Given the description of an element on the screen output the (x, y) to click on. 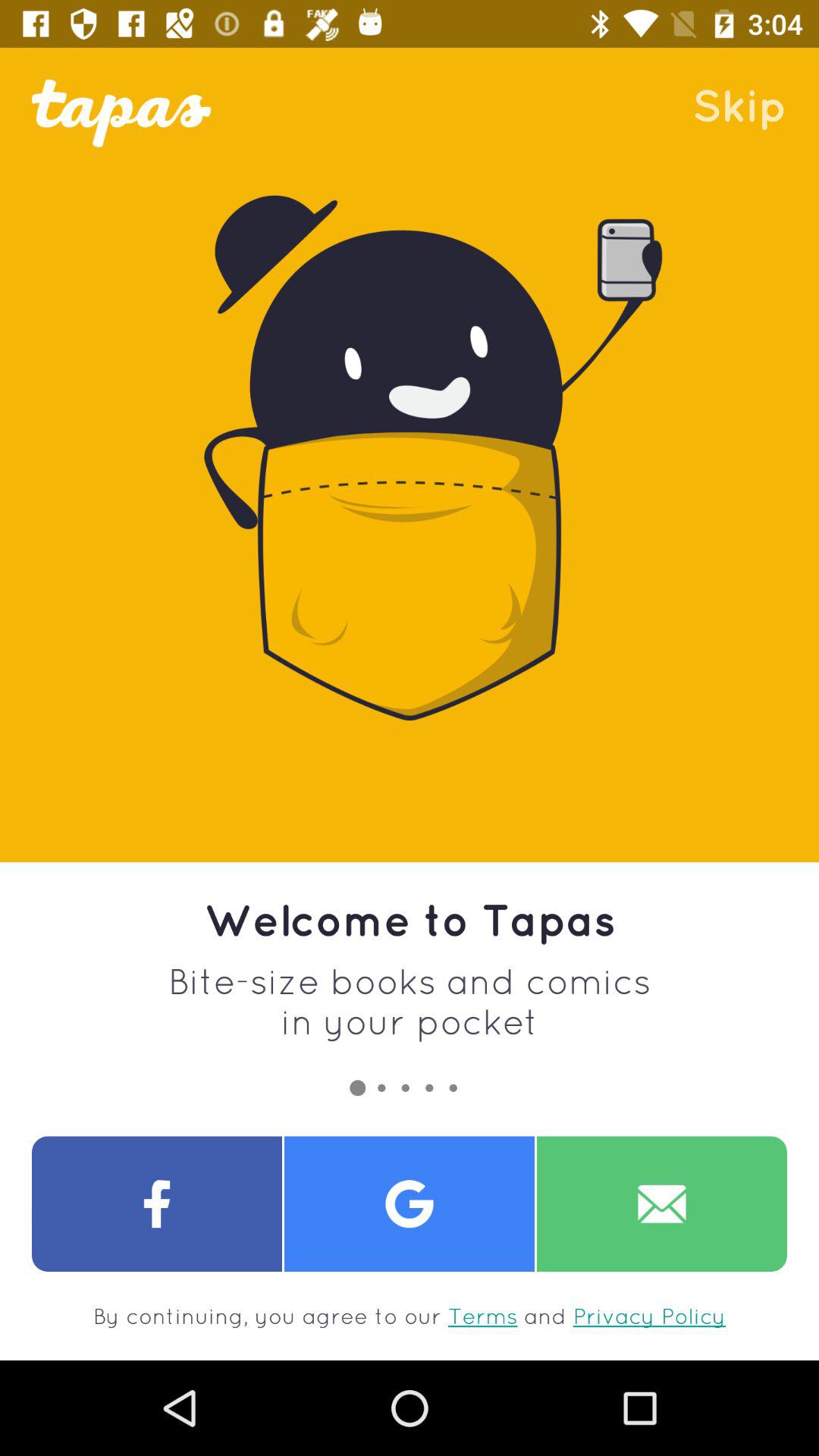
open facebook (156, 1203)
